Given the description of an element on the screen output the (x, y) to click on. 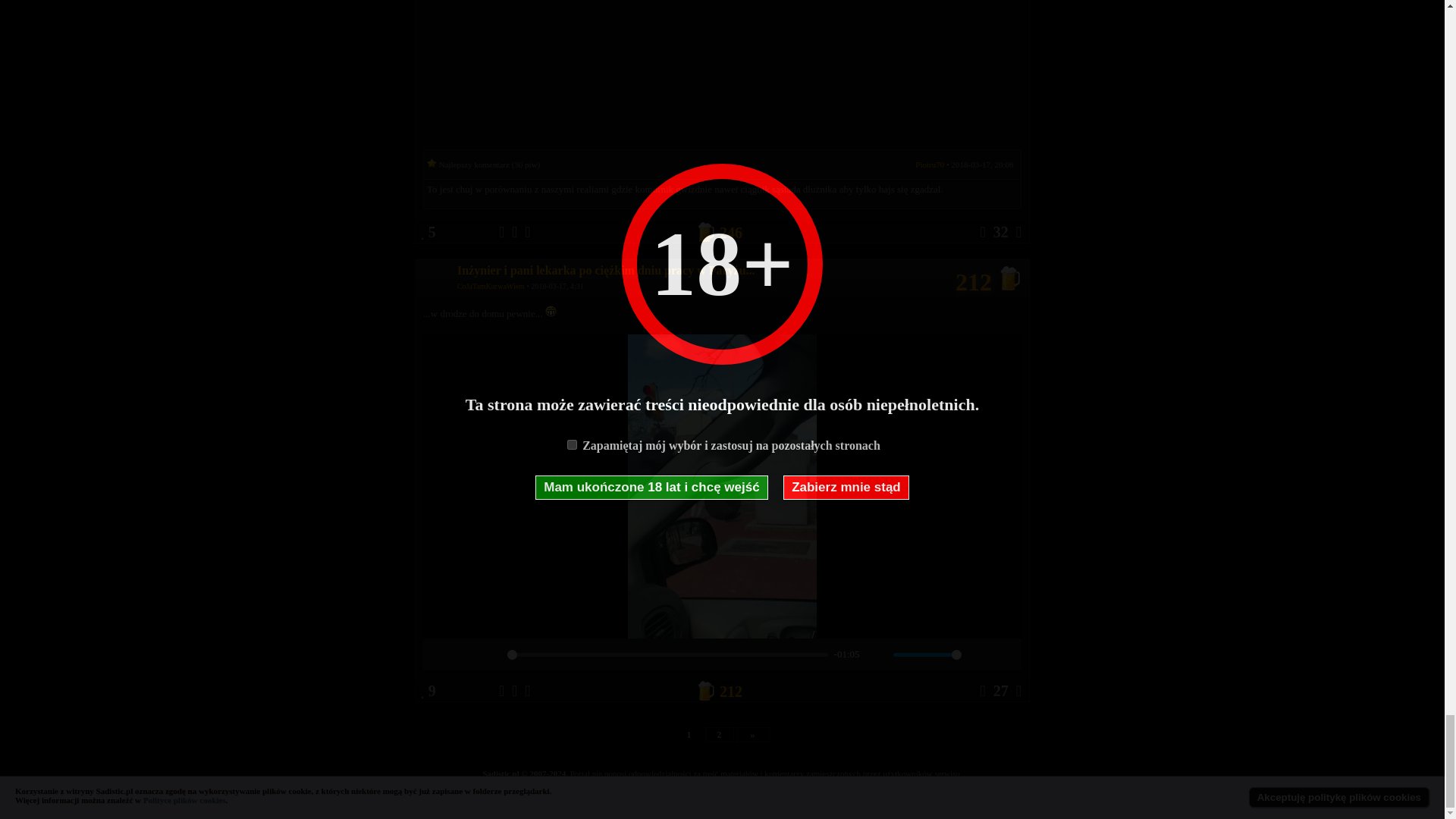
1 (926, 654)
0 (667, 654)
Dalej (751, 734)
